Given the description of an element on the screen output the (x, y) to click on. 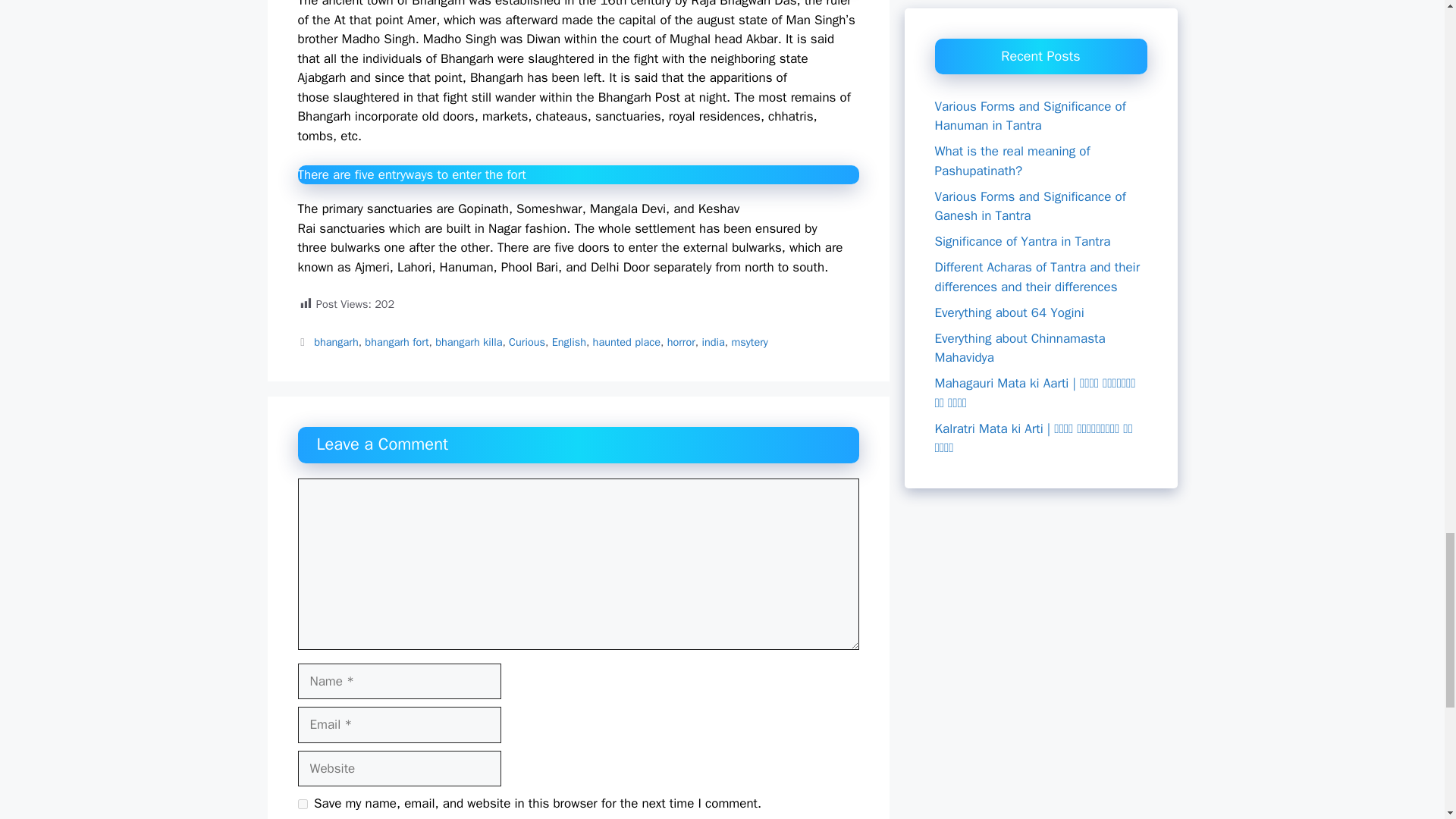
horror (680, 341)
msytery (748, 341)
bhangarh killa (468, 341)
Curious (526, 341)
yes (302, 804)
bhangarh fort (396, 341)
haunted place (626, 341)
English (568, 341)
india (713, 341)
bhangarh (336, 341)
